Given the description of an element on the screen output the (x, y) to click on. 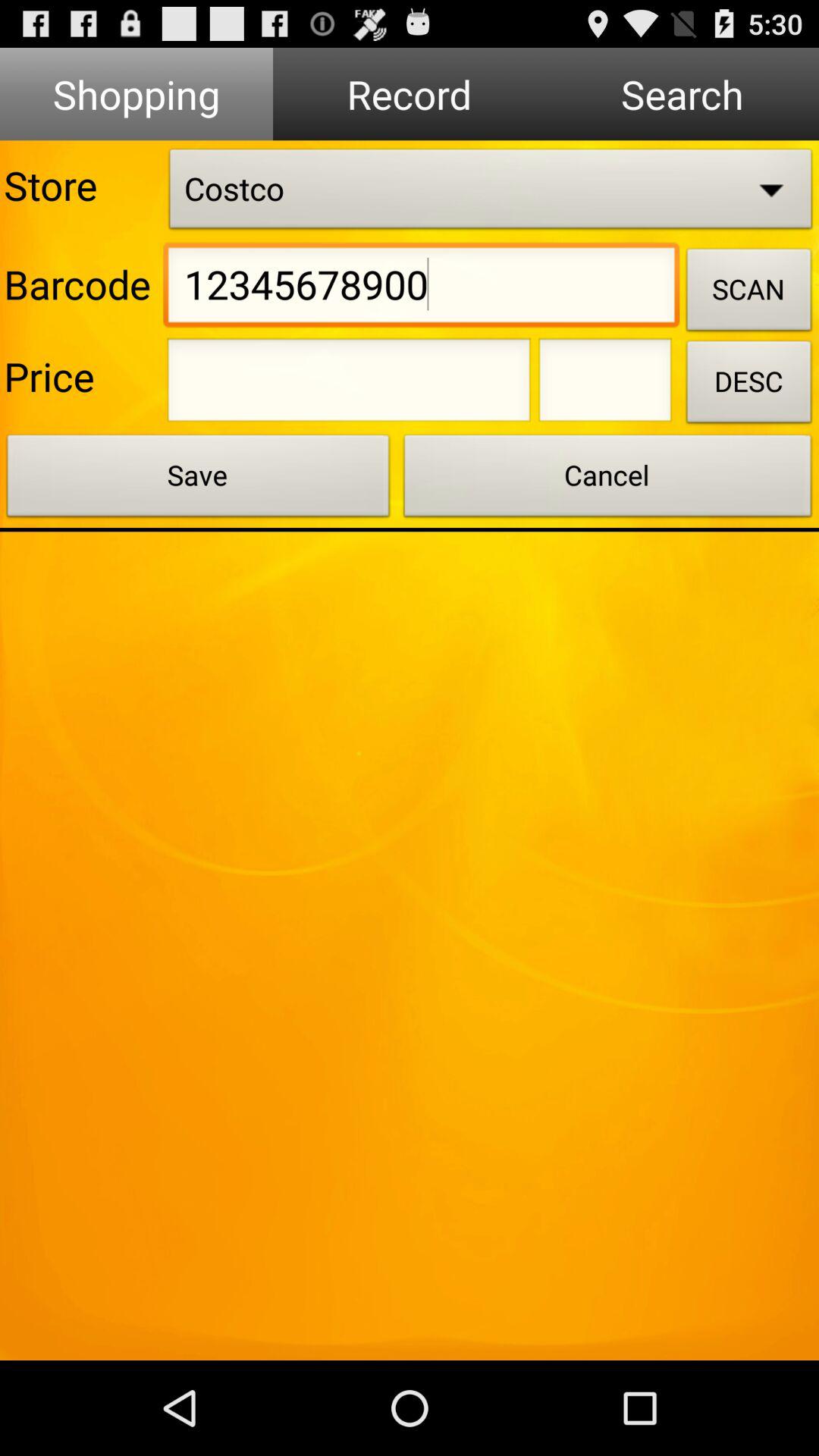
add item price (604, 384)
